Given the description of an element on the screen output the (x, y) to click on. 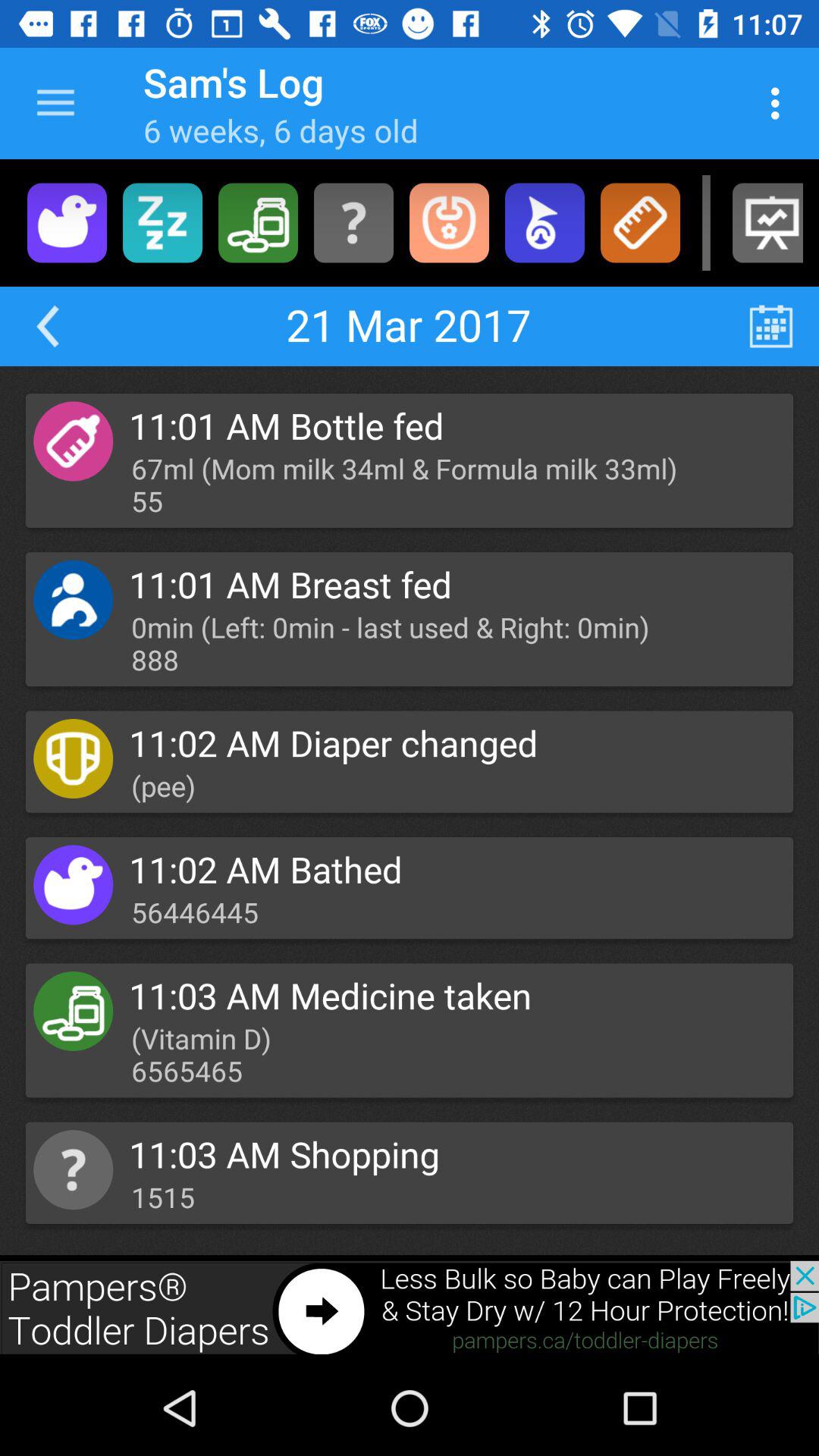
nap time button (162, 222)
